Given the description of an element on the screen output the (x, y) to click on. 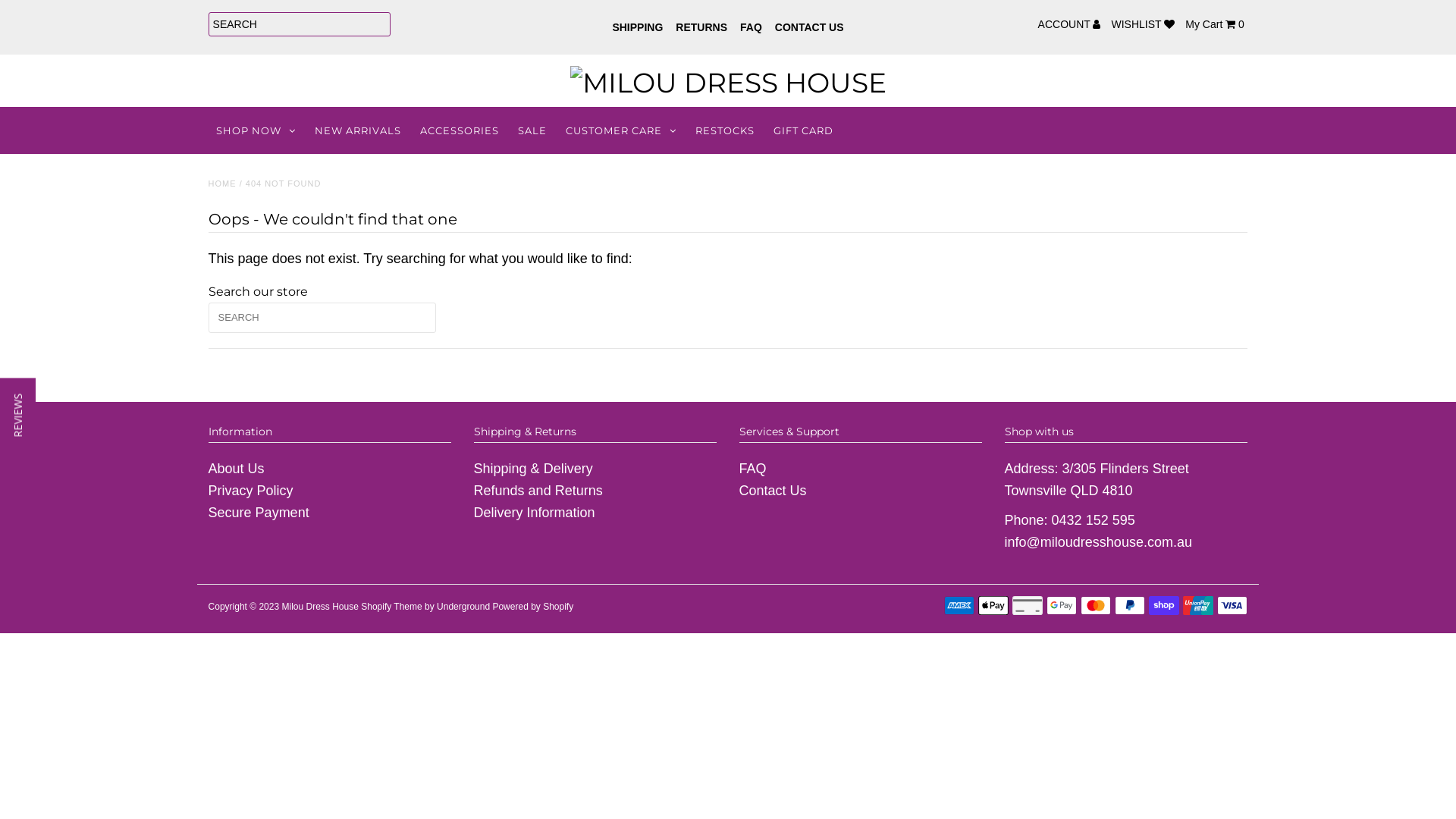
About Us Element type: text (236, 468)
CUSTOMER CARE Element type: text (621, 130)
ACCOUNT Element type: text (1066, 24)
Contact Us Element type: text (772, 490)
RETURNS Element type: text (701, 27)
Privacy Policy Element type: text (250, 490)
NEW ARRIVALS Element type: text (357, 130)
SALE Element type: text (532, 130)
info@miloudresshouse.com.au Element type: text (1098, 541)
My Cart 0 Element type: text (1211, 24)
SHIPPING Element type: text (636, 27)
CONTACT US Element type: text (809, 27)
Delivery Information Element type: text (534, 512)
Shopify Theme Element type: text (391, 606)
FAQ Element type: text (752, 468)
Powered by Shopify Element type: text (532, 606)
GIFT CARD Element type: text (802, 130)
Shipping & Delivery Element type: text (533, 468)
HOME Element type: text (222, 183)
WISHLIST Element type: text (1139, 24)
ACCESSORIES Element type: text (459, 130)
RESTOCKS Element type: text (724, 130)
SHOP NOW Element type: text (255, 130)
Milou Dress House Element type: text (319, 606)
Secure Payment Element type: text (258, 512)
Refunds and Returns Element type: text (537, 490)
FAQ Element type: text (751, 27)
